Given the description of an element on the screen output the (x, y) to click on. 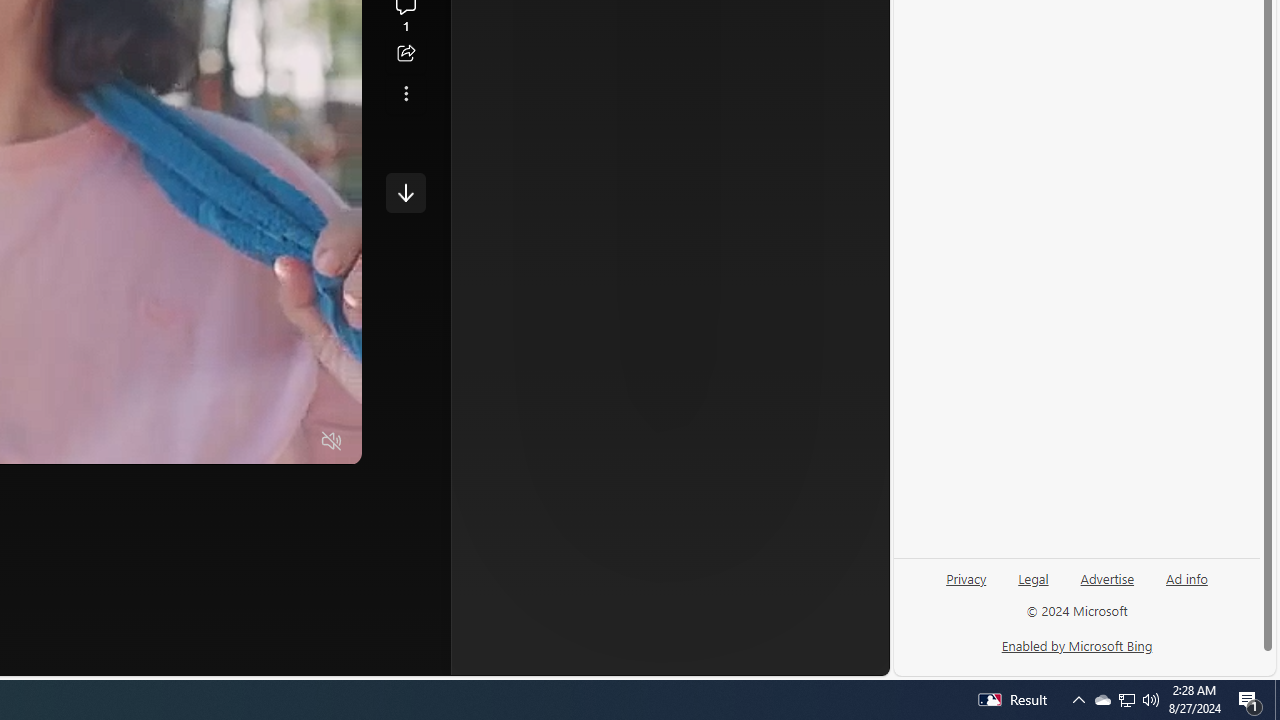
Share this story (406, 53)
ATP Personal Training HK (656, 337)
Fullscreen (293, 442)
Try personal training with ... (694, 284)
Unmute (332, 442)
Captions (253, 442)
